Given the description of an element on the screen output the (x, y) to click on. 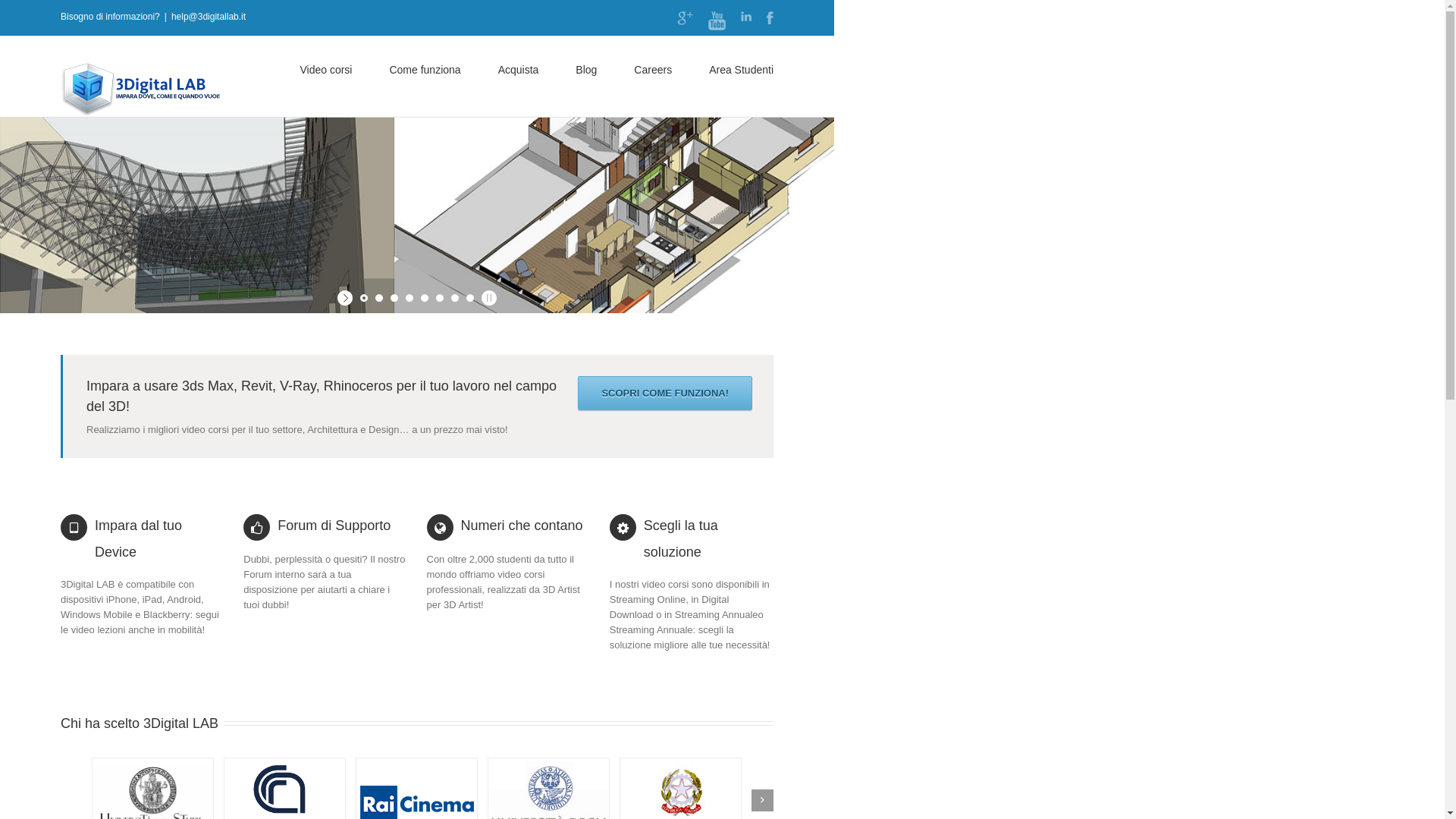
Come funziona Element type: text (424, 68)
SCOPRI COME FUNZIONA! Element type: text (664, 393)
Youtube Element type: text (716, 20)
Careers Element type: text (652, 68)
help@3digitallab.it Element type: text (208, 16)
Facebook Element type: text (769, 17)
Area Studenti Element type: text (741, 68)
LinkedIn Element type: text (745, 16)
Blog Element type: text (585, 68)
Google+ Element type: text (685, 18)
Video corsi Element type: text (325, 68)
Acquista Element type: text (518, 68)
